Given the description of an element on the screen output the (x, y) to click on. 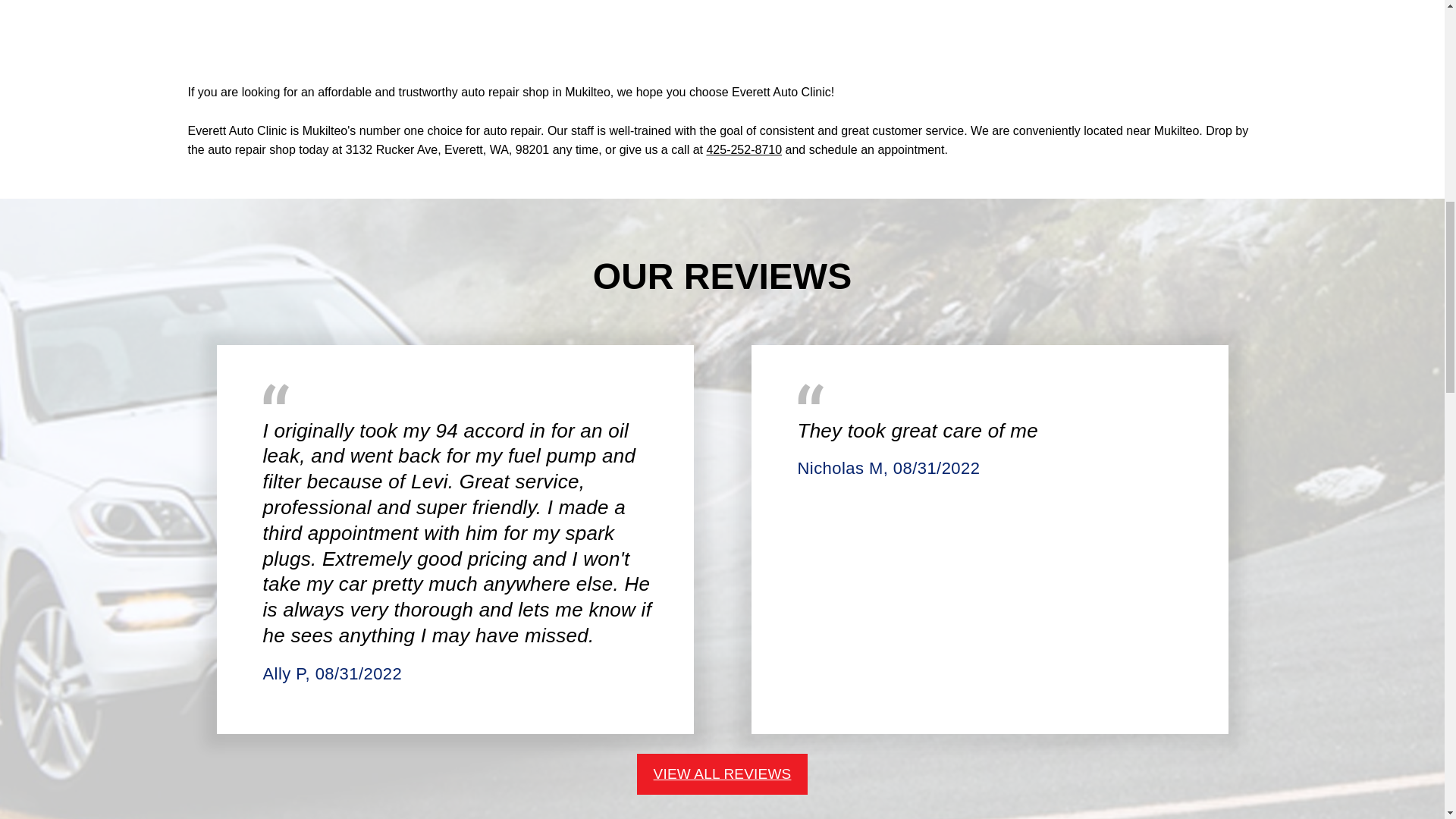
VIEW ALL REVIEWS (722, 773)
425-252-8710 (743, 149)
